Given the description of an element on the screen output the (x, y) to click on. 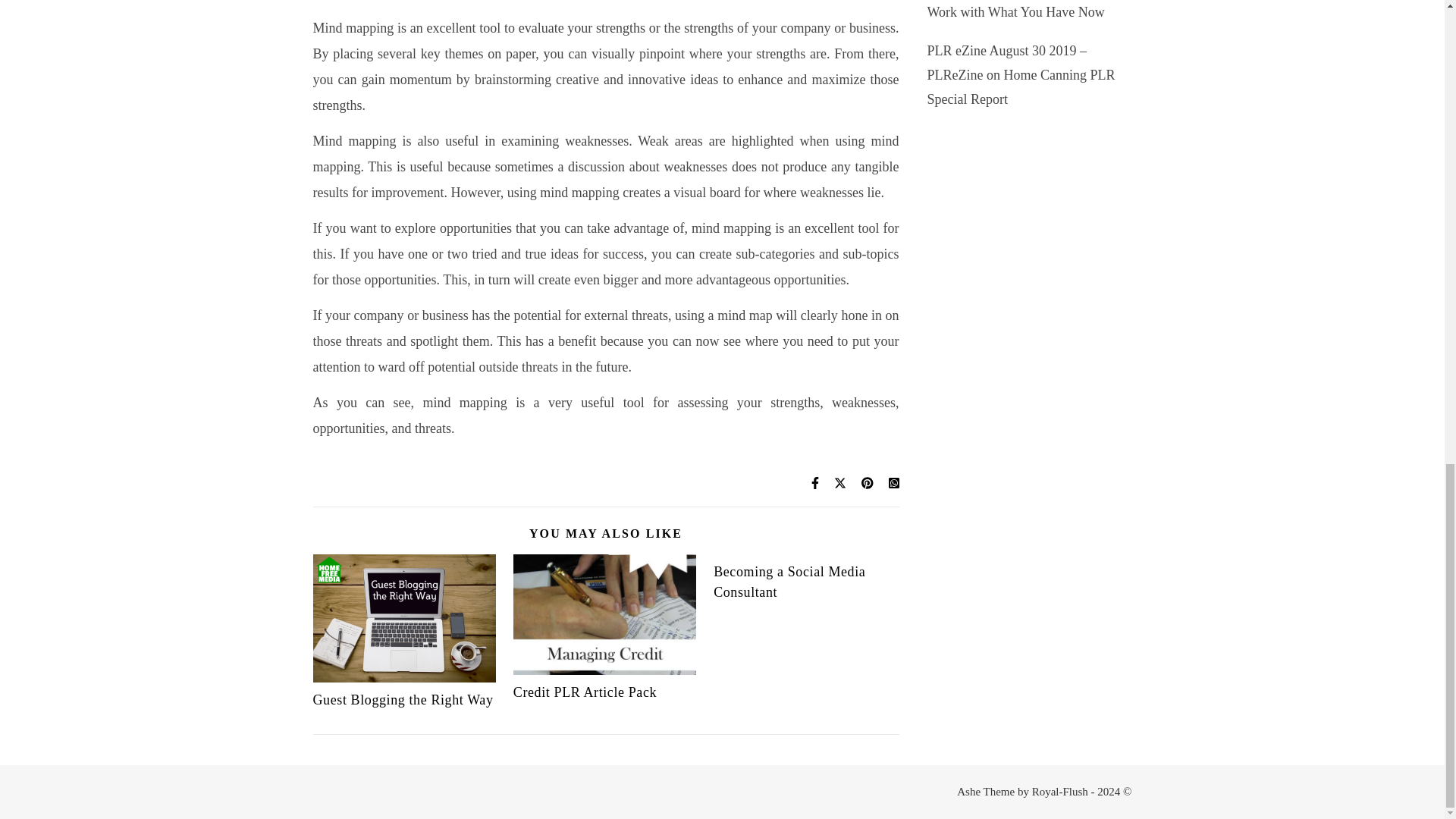
Guest Blogging the Right Way (403, 699)
Credit PLR Article Pack (584, 692)
